Given the description of an element on the screen output the (x, y) to click on. 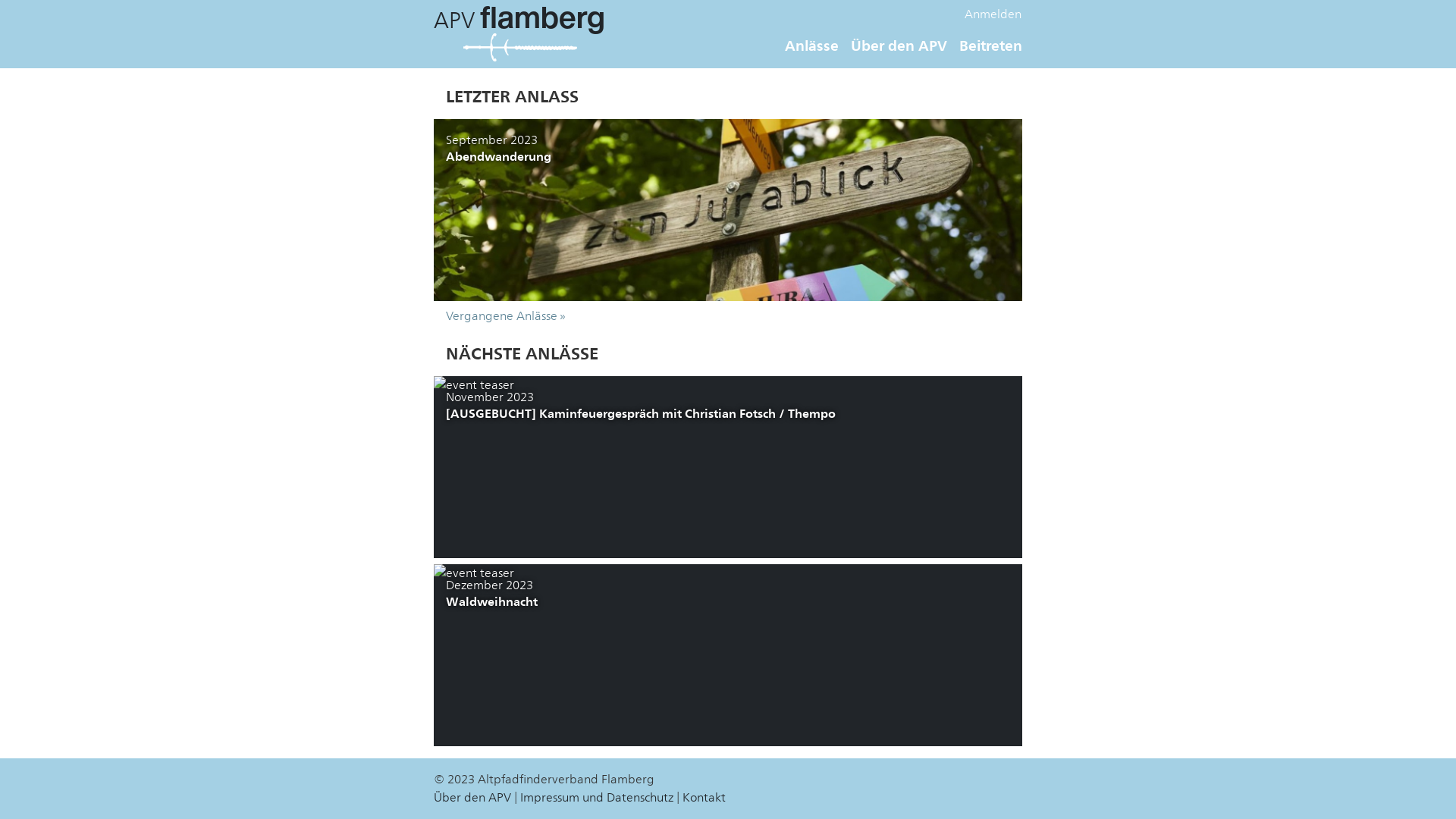
Anmelden Element type: text (992, 14)
Kontakt Element type: text (703, 797)
Beitreten Element type: text (987, 45)
Impressum und Datenschutz Element type: text (596, 797)
Dezember 2023
Waldweihnacht Element type: text (727, 655)
September 2023
Abendwanderung Element type: text (727, 222)
